Given the description of an element on the screen output the (x, y) to click on. 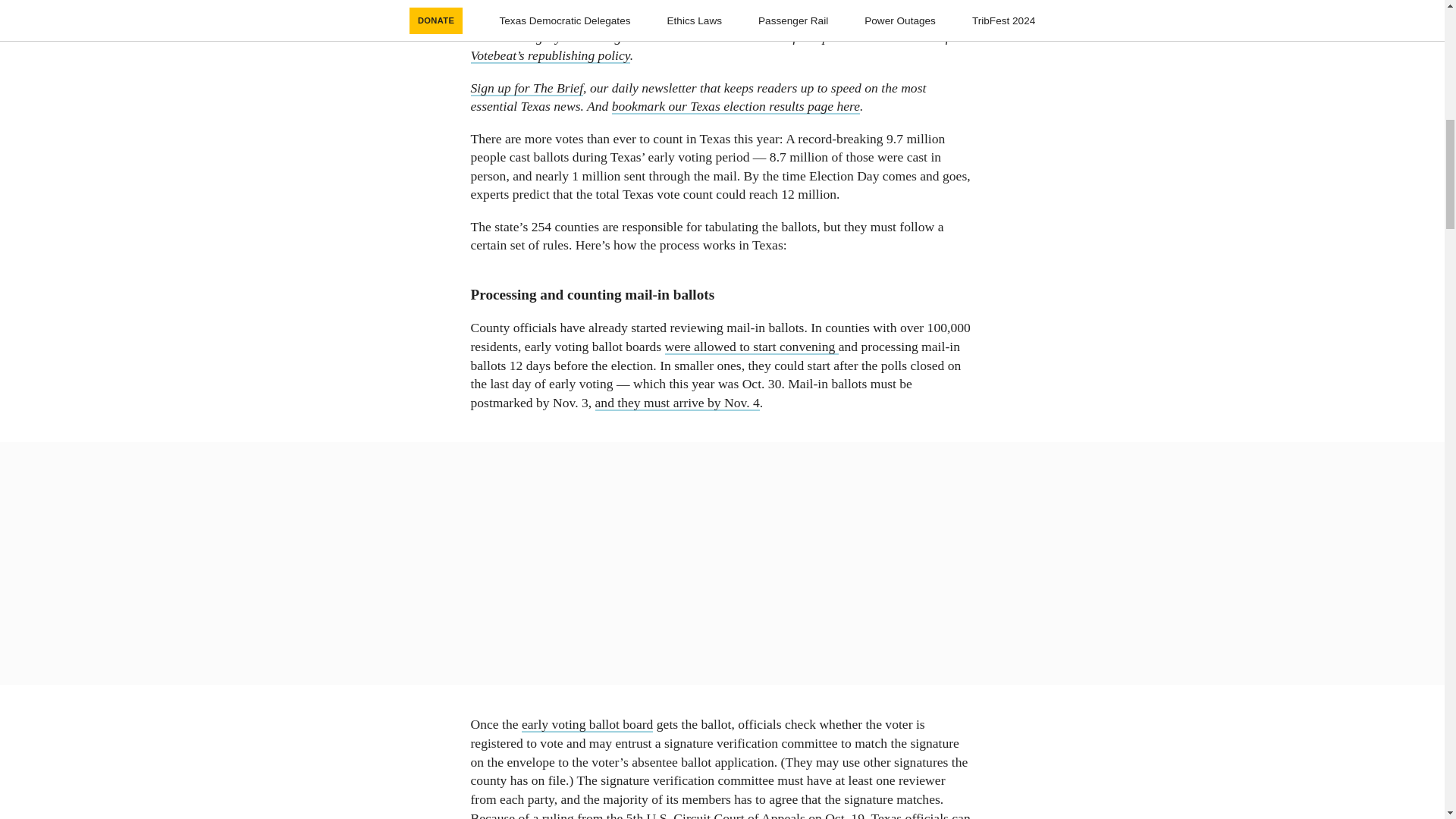
Votebeat (679, 18)
